Given the description of an element on the screen output the (x, y) to click on. 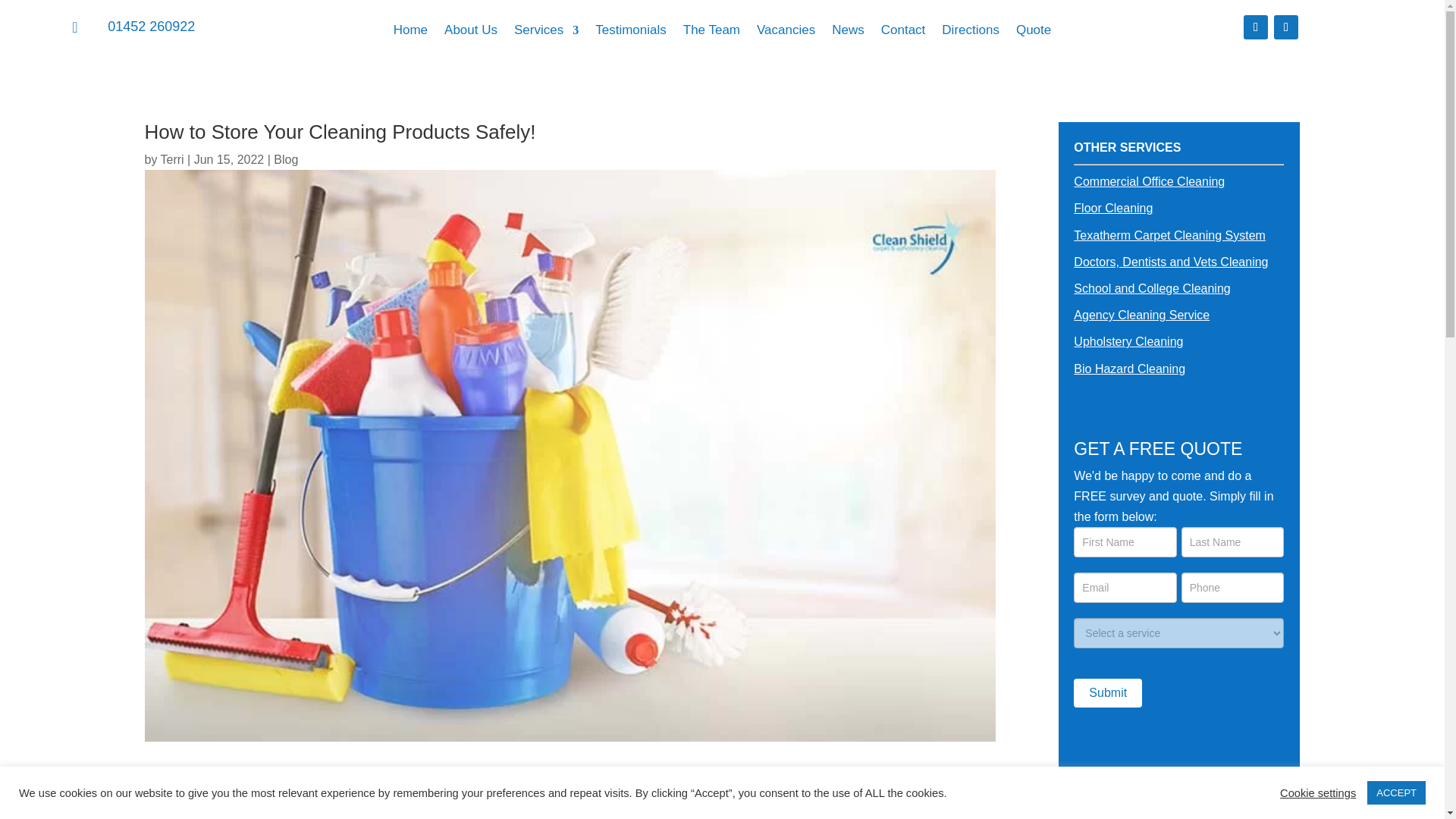
About Us (470, 33)
Posts by Terri (172, 159)
Follow on X (1286, 27)
Contact (903, 33)
Testimonials (630, 33)
Directions (970, 33)
News (847, 33)
Vacancies (786, 33)
Follow on Facebook (1255, 27)
Home (410, 33)
Quote (1033, 33)
01452 260922 (151, 26)
Services (545, 33)
The Team (710, 33)
